Given the description of an element on the screen output the (x, y) to click on. 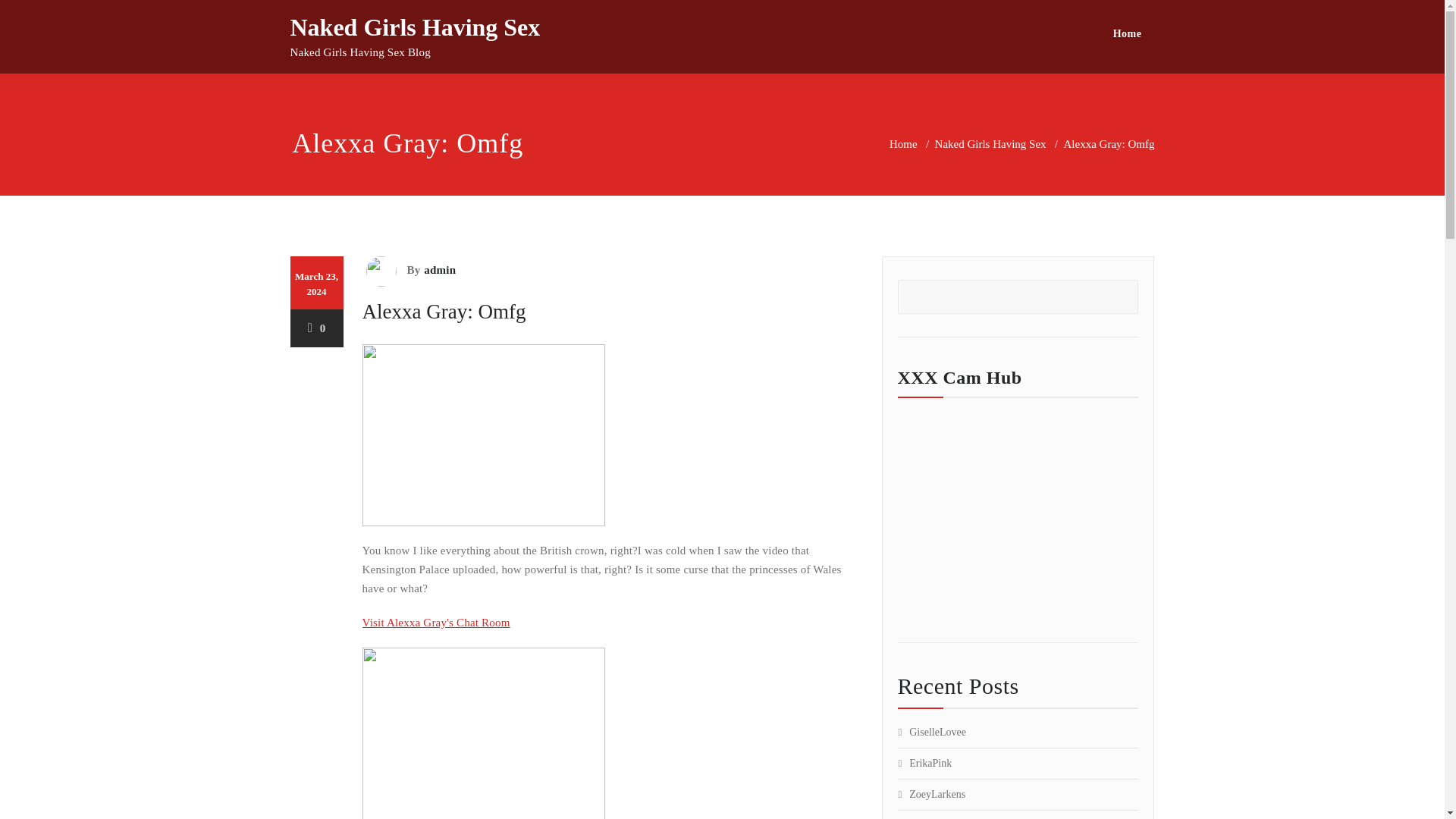
0 (316, 328)
Home (1127, 33)
Naked Girls Having Sex (990, 143)
admin (437, 270)
Home (903, 143)
Visit Alexxa Gray's Chat Room (436, 622)
Home (1127, 33)
GiselleLovee (932, 731)
ErikaPink (925, 763)
Naked Girls Having Sex (414, 27)
